Given the description of an element on the screen output the (x, y) to click on. 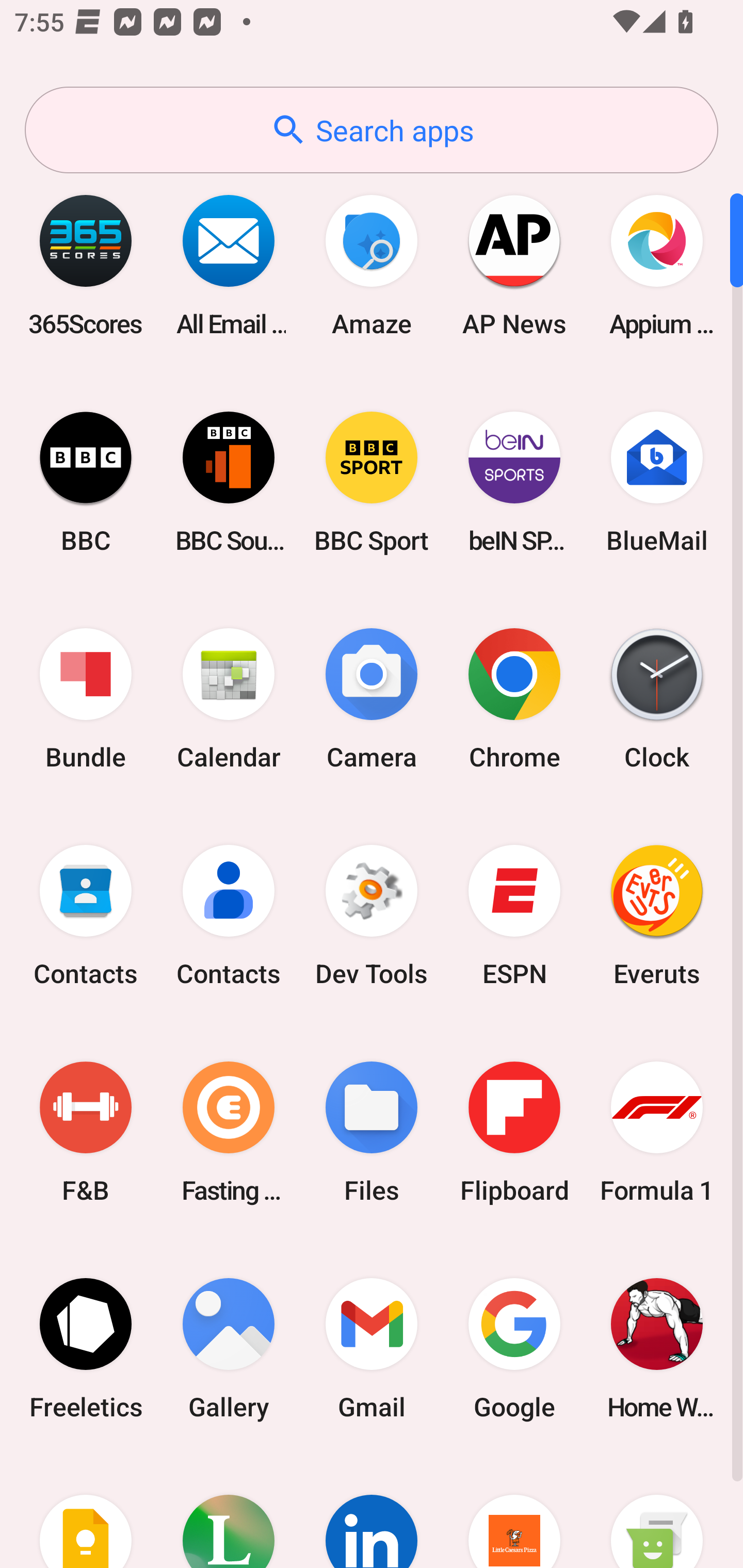
  Search apps (371, 130)
365Scores (85, 264)
All Email Connect (228, 264)
Amaze (371, 264)
AP News (514, 264)
Appium Settings (656, 264)
BBC (85, 482)
BBC Sounds (228, 482)
BBC Sport (371, 482)
beIN SPORTS (514, 482)
BlueMail (656, 482)
Bundle (85, 699)
Calendar (228, 699)
Camera (371, 699)
Chrome (514, 699)
Clock (656, 699)
Contacts (85, 915)
Contacts (228, 915)
Dev Tools (371, 915)
ESPN (514, 915)
Everuts (656, 915)
F&B (85, 1131)
Fasting Coach (228, 1131)
Files (371, 1131)
Flipboard (514, 1131)
Formula 1 (656, 1131)
Freeletics (85, 1348)
Gallery (228, 1348)
Gmail (371, 1348)
Google (514, 1348)
Home Workout (656, 1348)
